Given the description of an element on the screen output the (x, y) to click on. 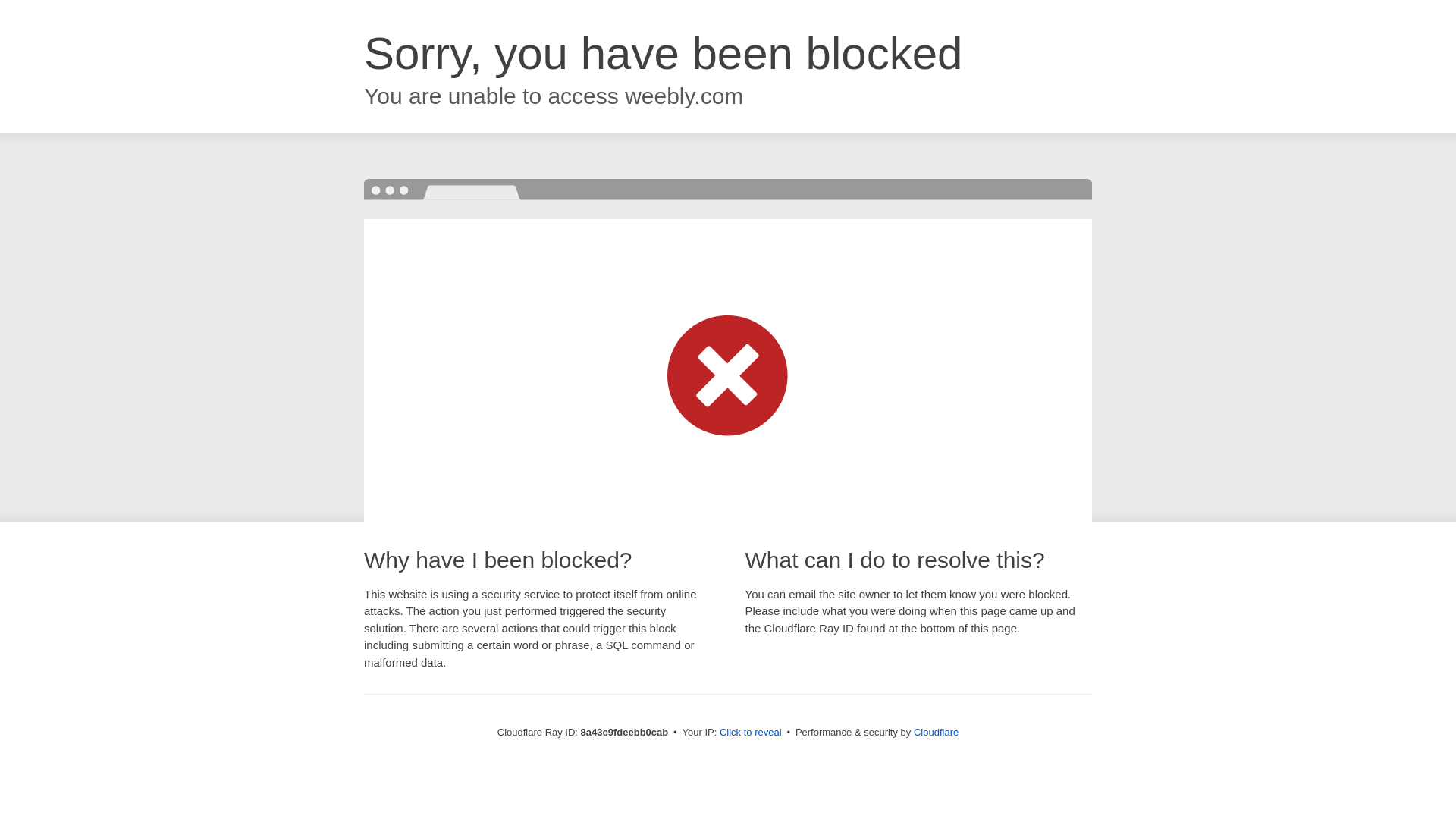
Click to reveal (750, 732)
Cloudflare (936, 731)
